Given the description of an element on the screen output the (x, y) to click on. 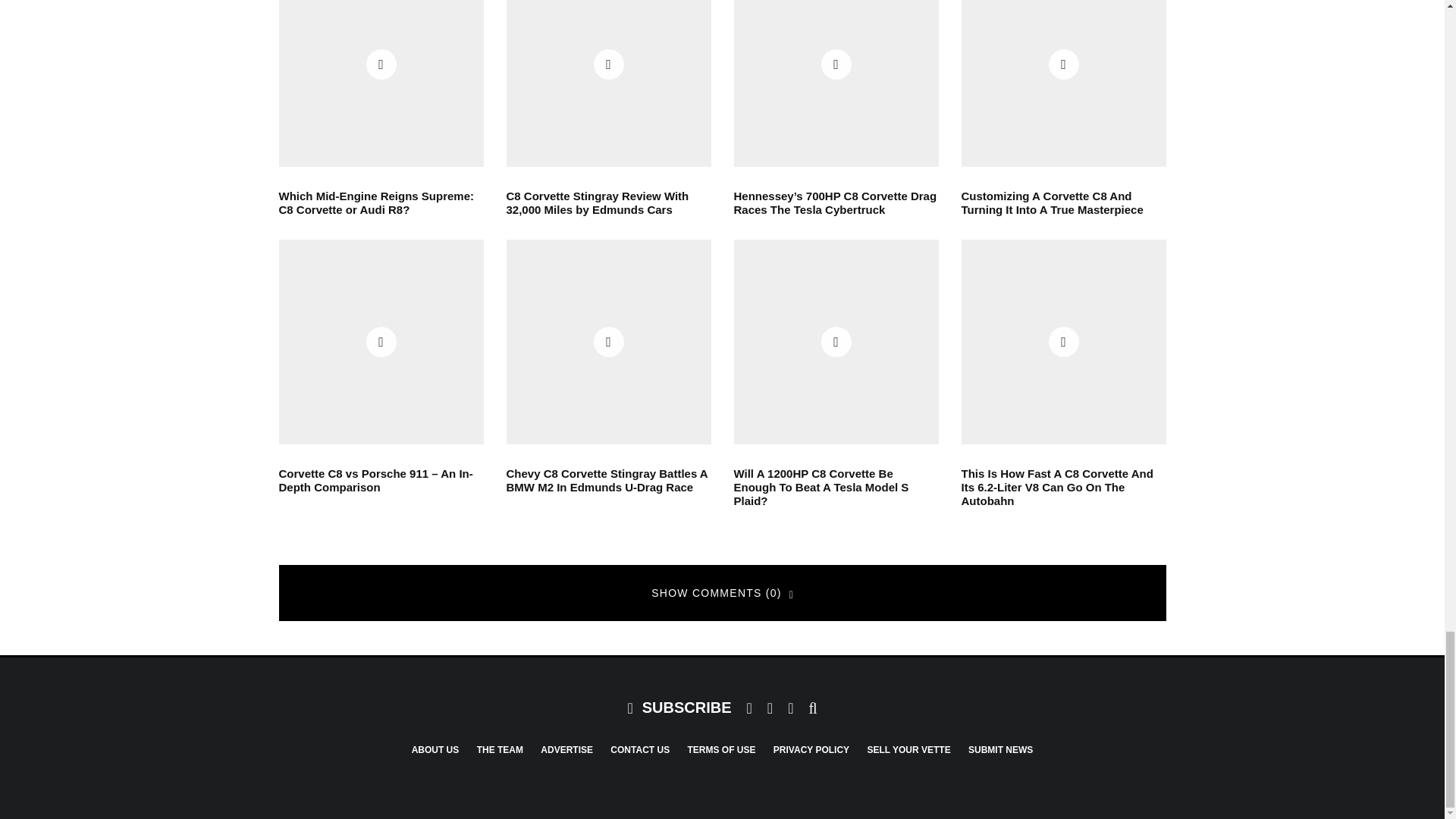
C8-Corvette-vs-Audi-R8 (381, 83)
maxresdefault (836, 83)
2020-Chevrolet-C8-Corvette (608, 83)
